Given the description of an element on the screen output the (x, y) to click on. 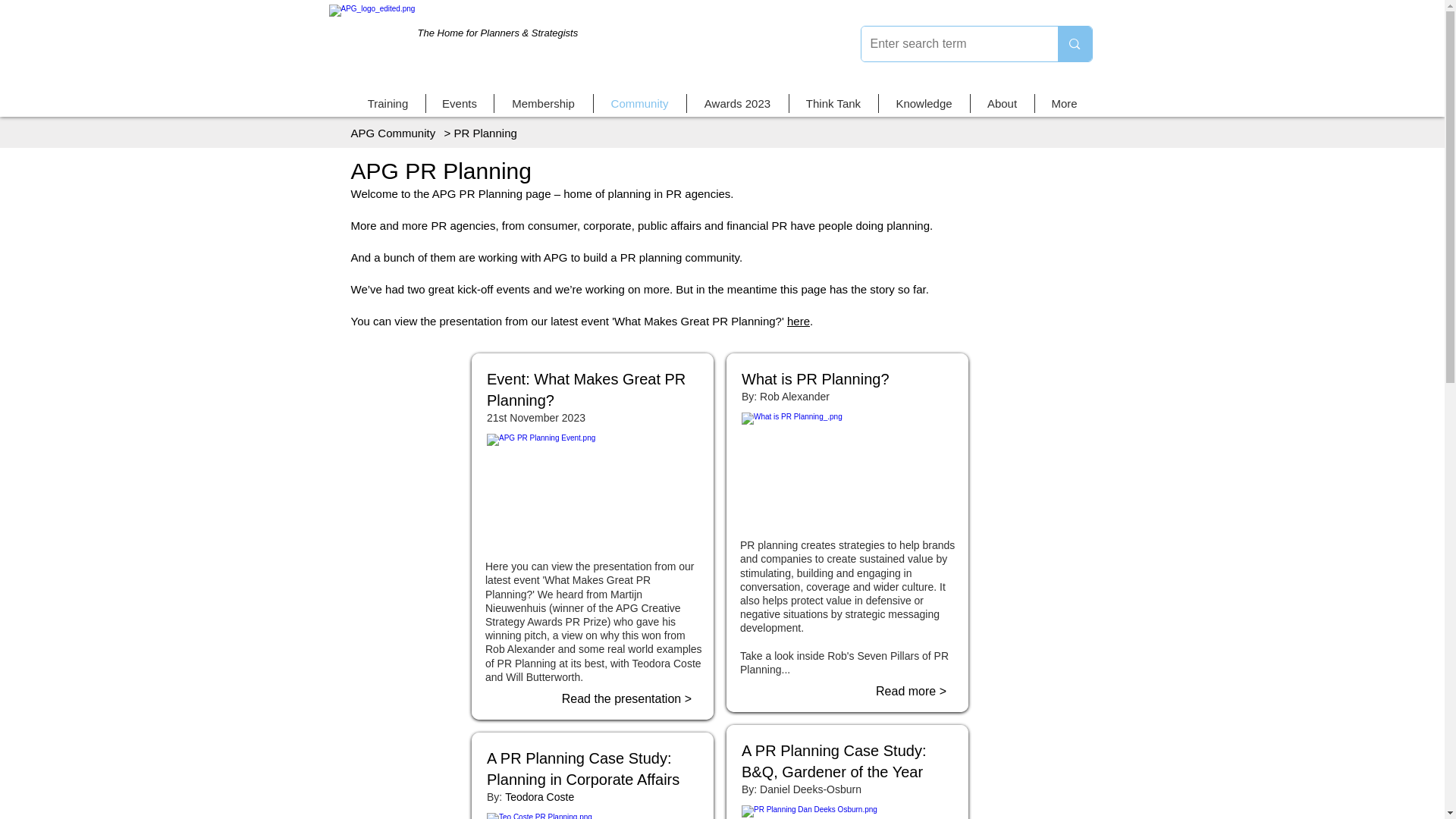
Events (459, 103)
Membership (543, 103)
Community (638, 103)
Awards 2023 (738, 103)
APG (398, 49)
Think Tank (833, 103)
Training (387, 103)
